Given the description of an element on the screen output the (x, y) to click on. 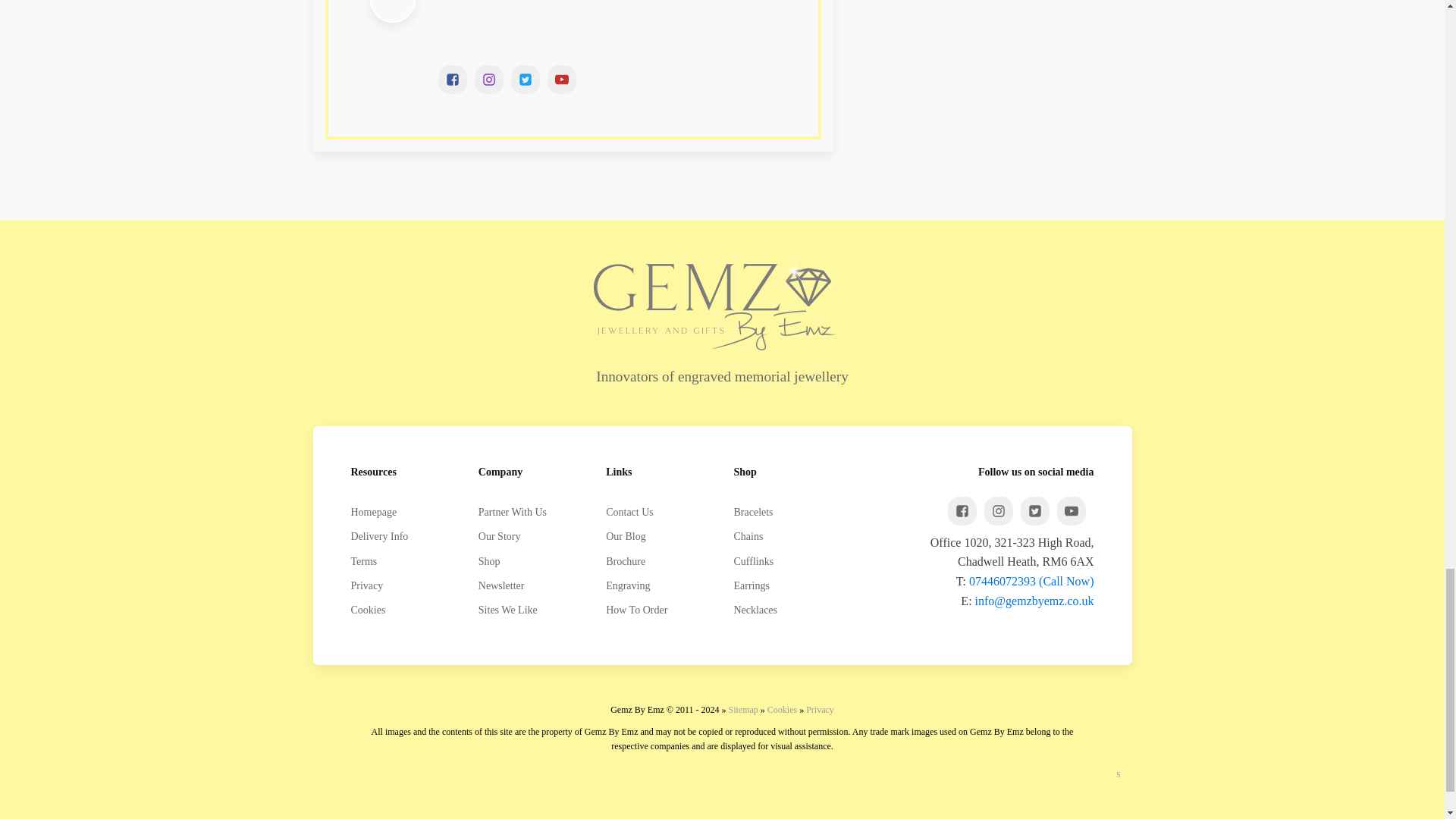
Skyshot Media Solutions - Wordpress Woocommerce Design (1118, 774)
